Given the description of an element on the screen output the (x, y) to click on. 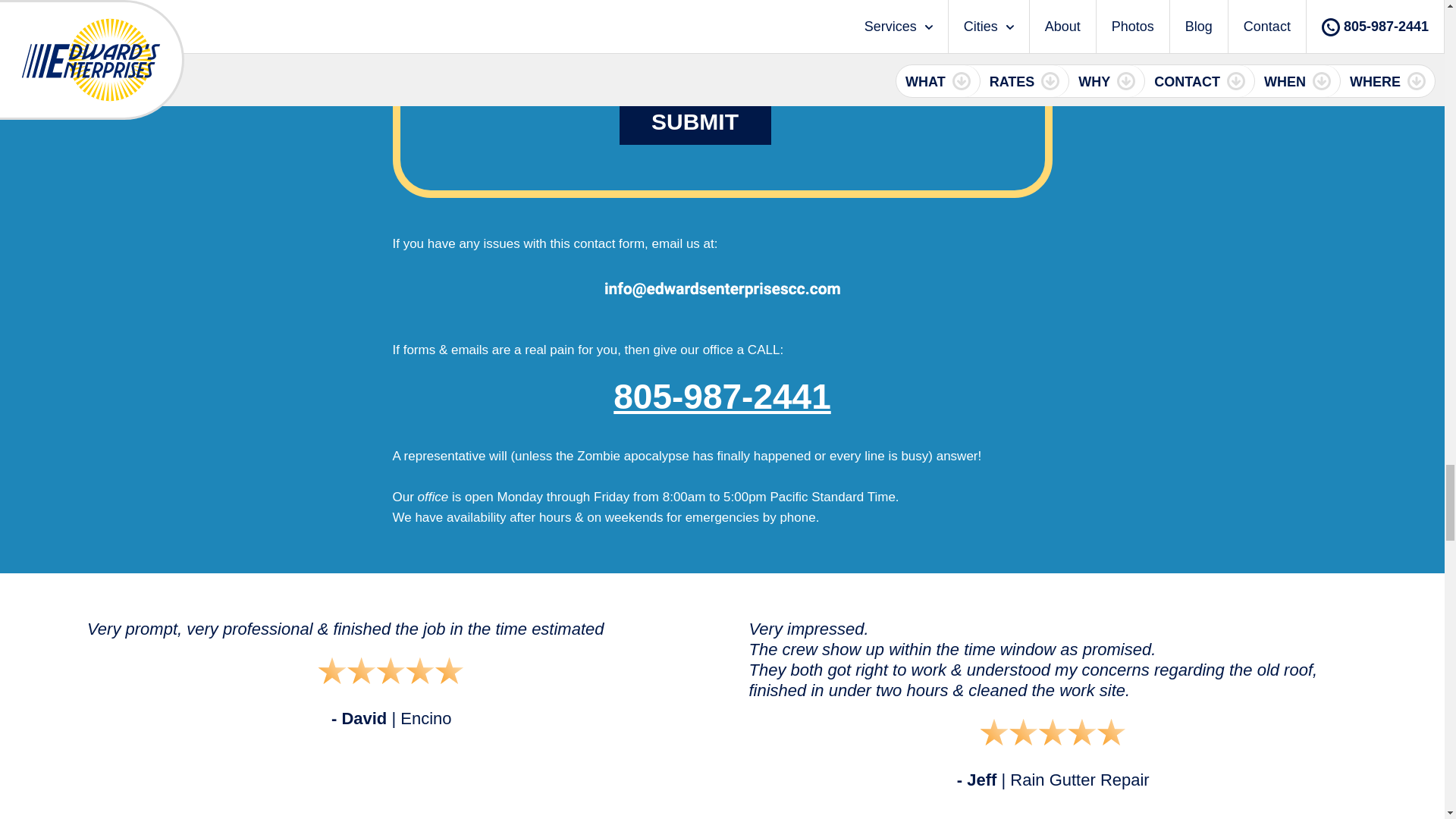
No (794, 53)
Yes (749, 53)
Submit (694, 121)
